Given the description of an element on the screen output the (x, y) to click on. 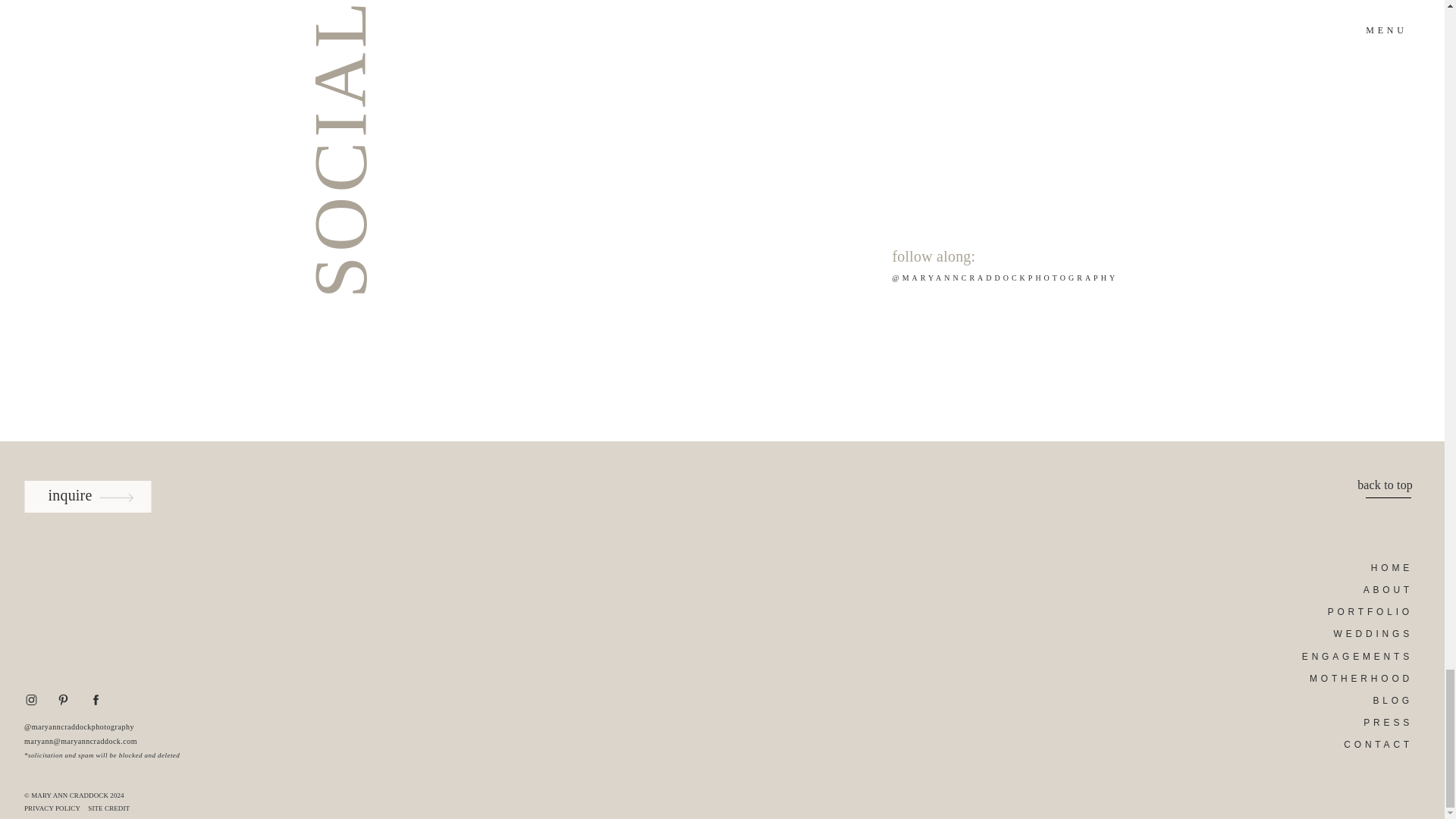
 SITE CREDIT (111, 808)
ENGAGEMENTS (1356, 655)
PORTFOLIO (1359, 610)
PRIVACY POLICY (59, 808)
MOTHERHOOD (1359, 676)
ABOUT (1359, 588)
CONTACT (1359, 743)
WEDDINGS (1359, 632)
